Given the description of an element on the screen output the (x, y) to click on. 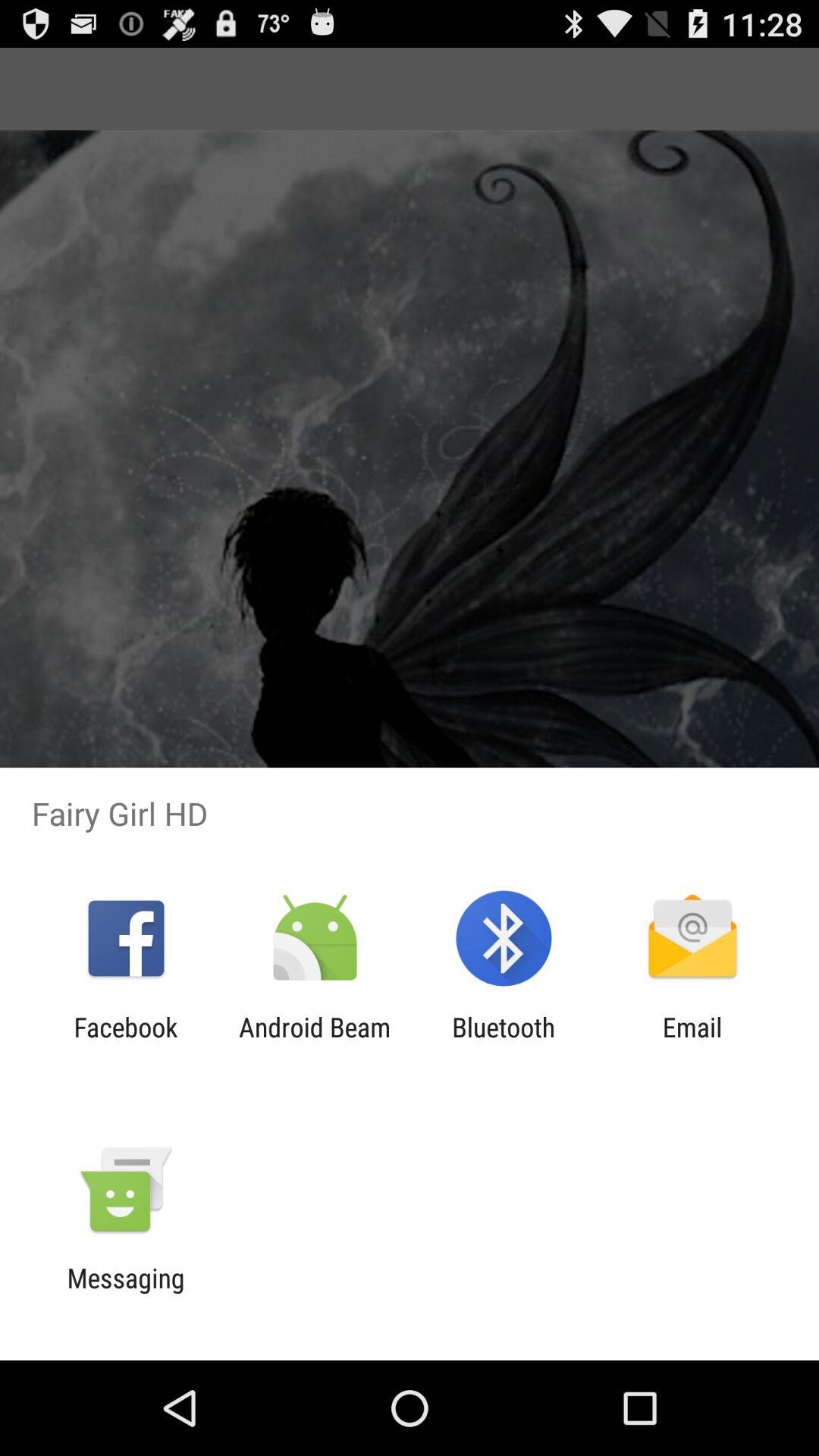
jump to android beam item (314, 1042)
